Given the description of an element on the screen output the (x, y) to click on. 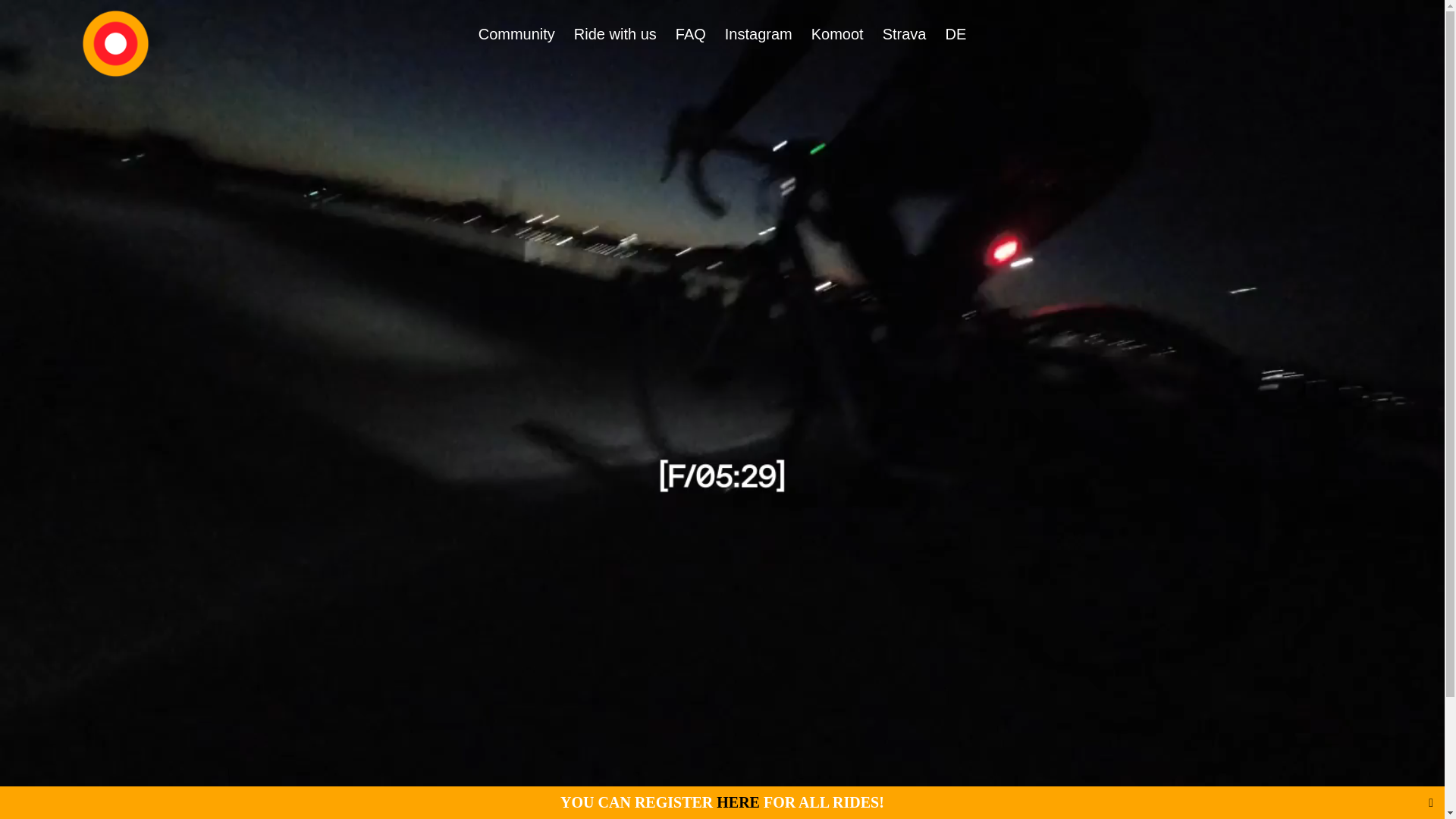
Ride with us Element type: text (615, 33)
Instagram Element type: text (758, 33)
Komoot Element type: text (837, 33)
HERE Element type: text (737, 801)
Community Element type: text (516, 33)
FAQ Element type: text (690, 33)
Strava Element type: text (904, 33)
DE Element type: text (955, 33)
